Given the description of an element on the screen output the (x, y) to click on. 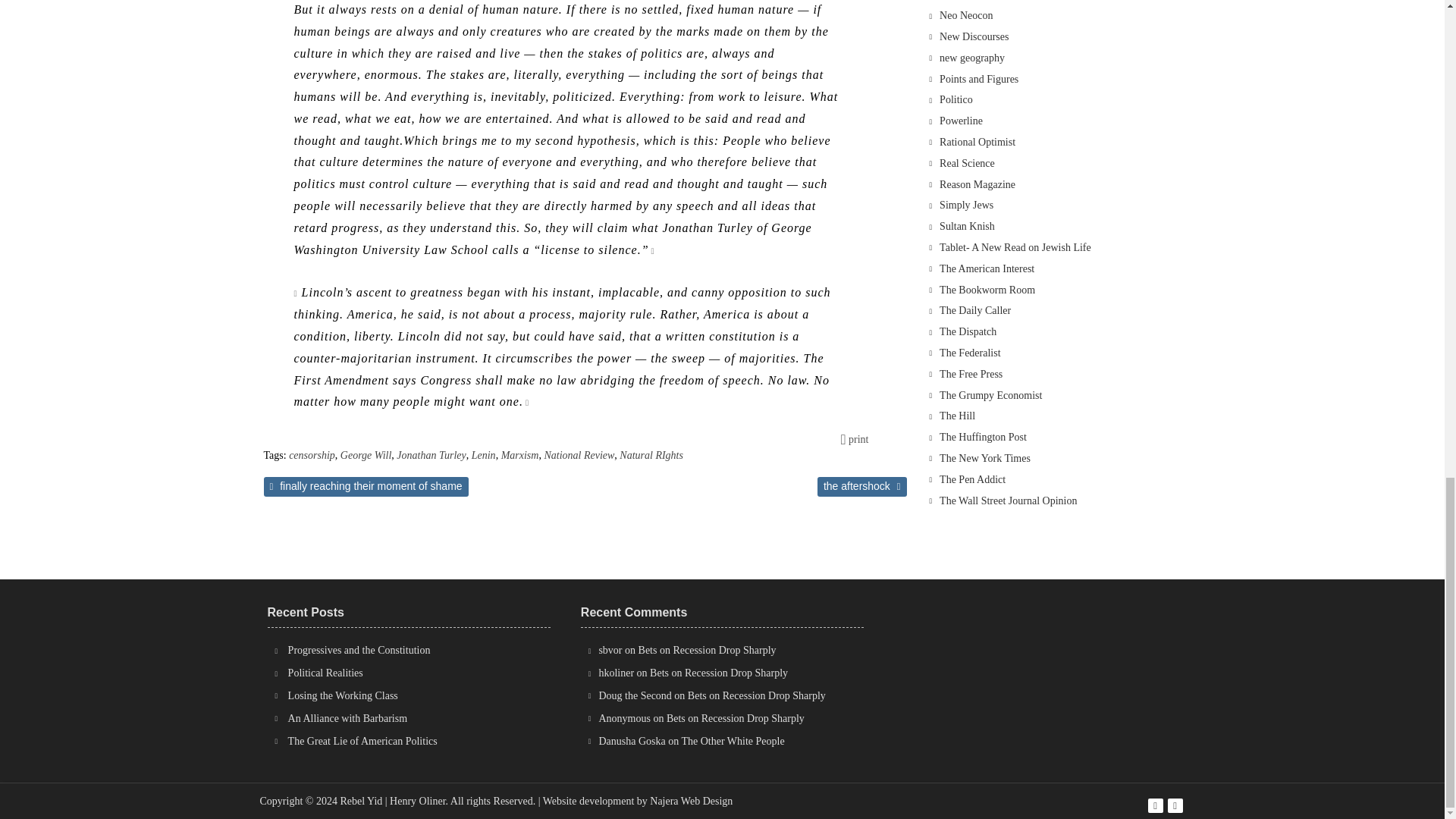
Facebook (1155, 805)
Twitter (1174, 805)
